Given the description of an element on the screen output the (x, y) to click on. 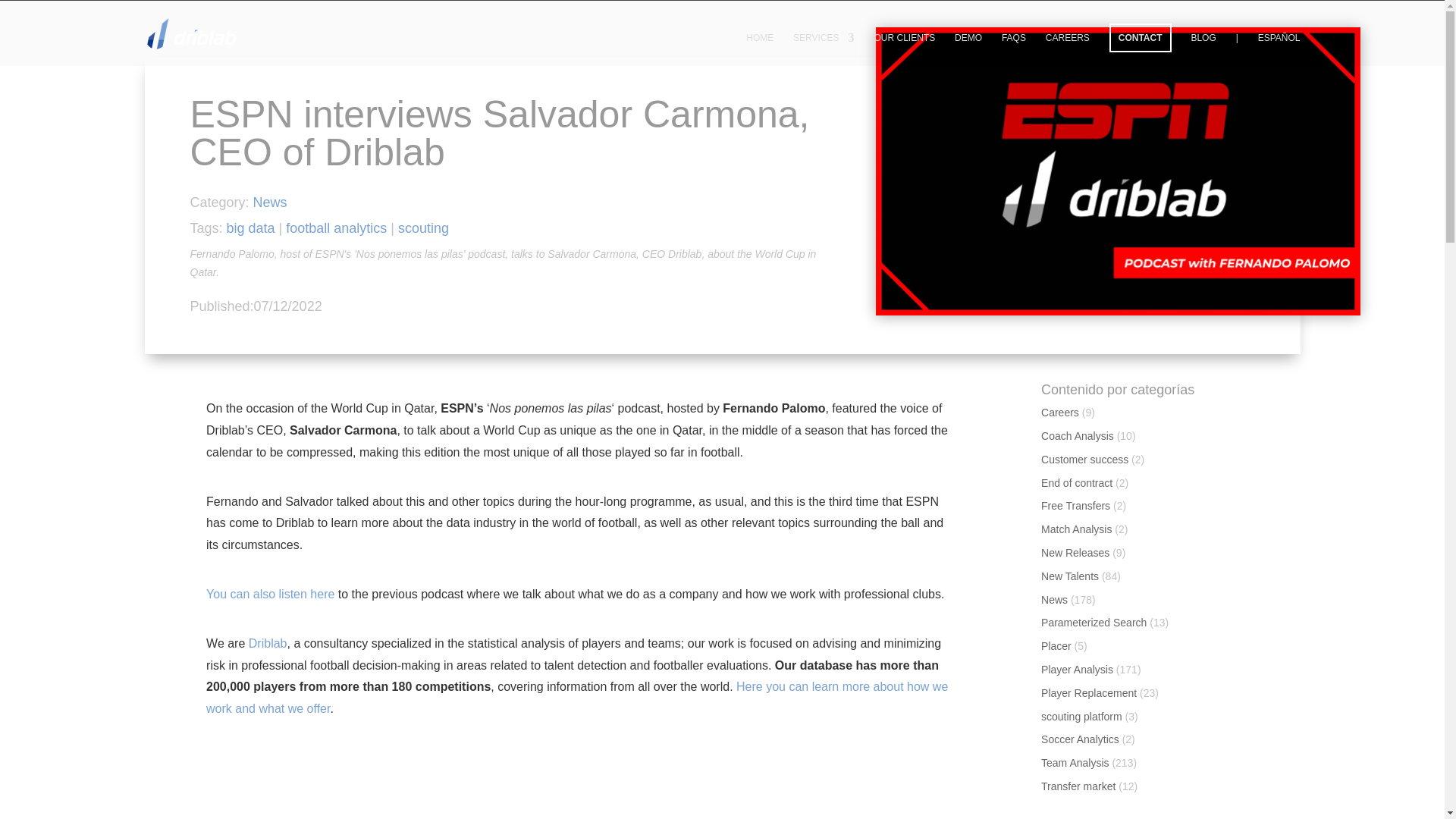
Free Transfers (1075, 505)
Careers (1059, 412)
CAREERS (1067, 49)
football analytics (336, 227)
SERVICES (823, 49)
New Talents (1070, 576)
OUR CLIENTS (903, 49)
You can also listen here (270, 594)
Driblab (267, 643)
